Given the description of an element on the screen output the (x, y) to click on. 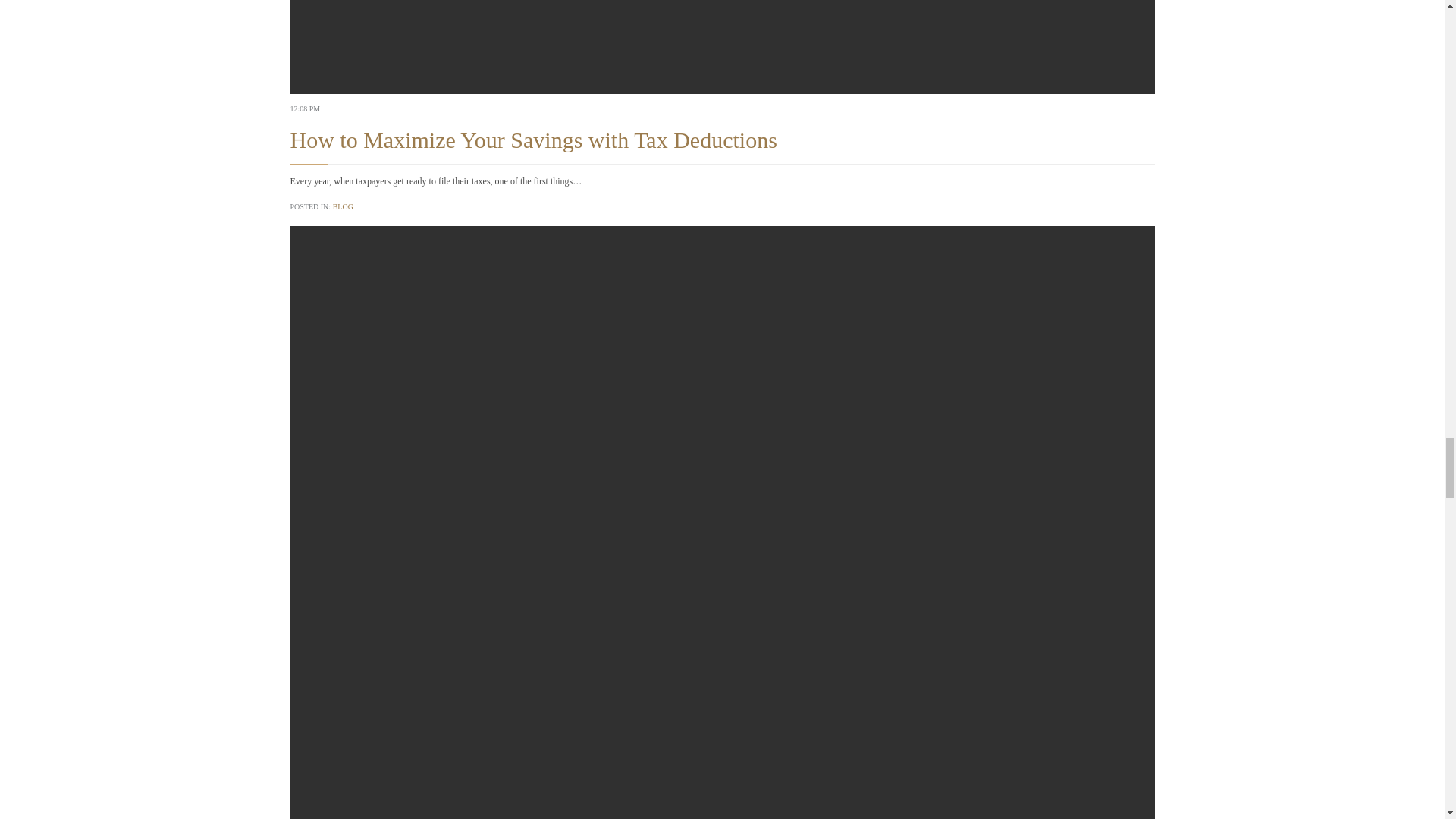
How to Maximize Your Savings with Tax Deductions (532, 139)
How to Maximize Your Savings with Tax Deductions (721, 47)
